Given the description of an element on the screen output the (x, y) to click on. 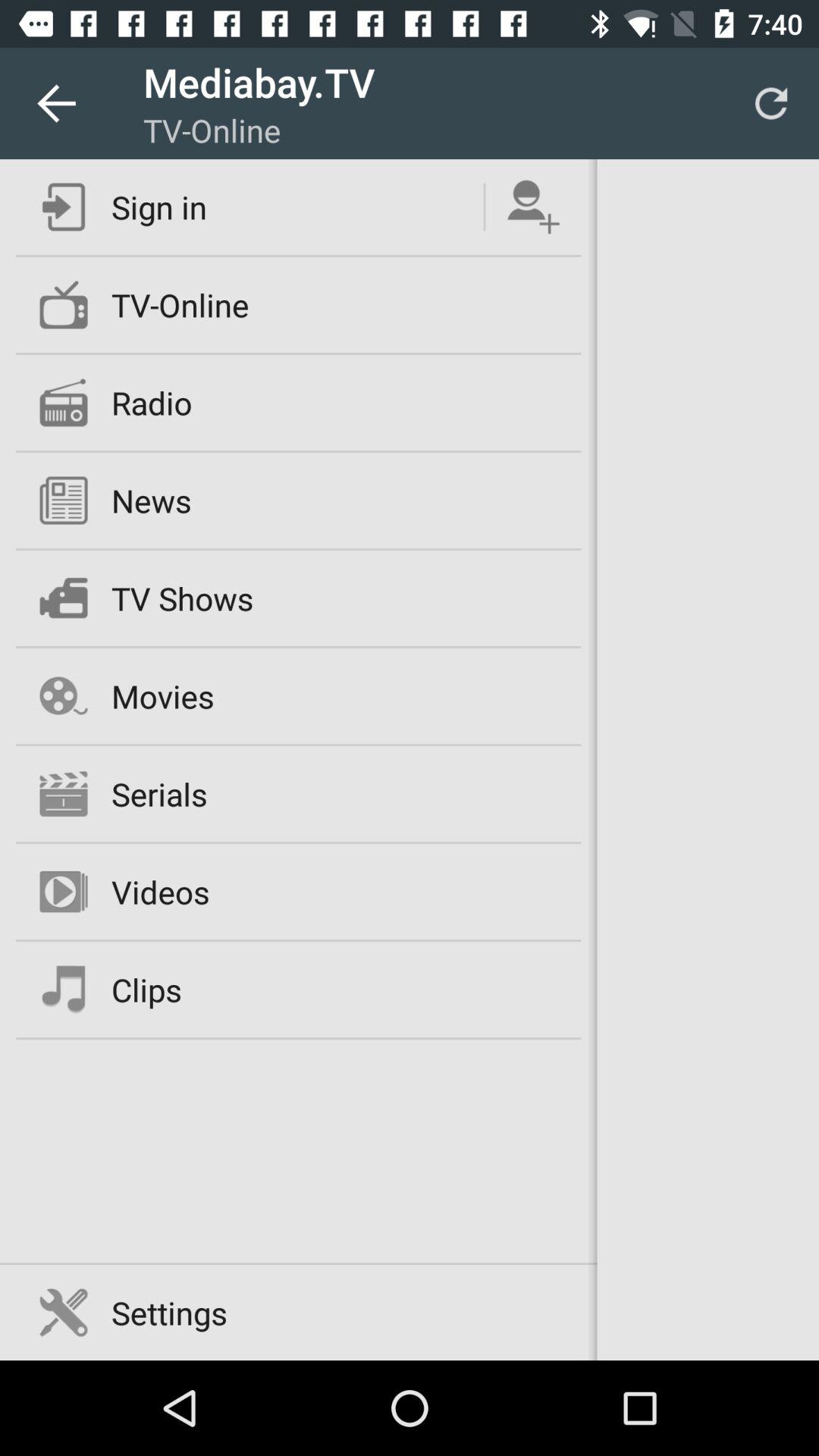
jump to the radio (151, 402)
